Given the description of an element on the screen output the (x, y) to click on. 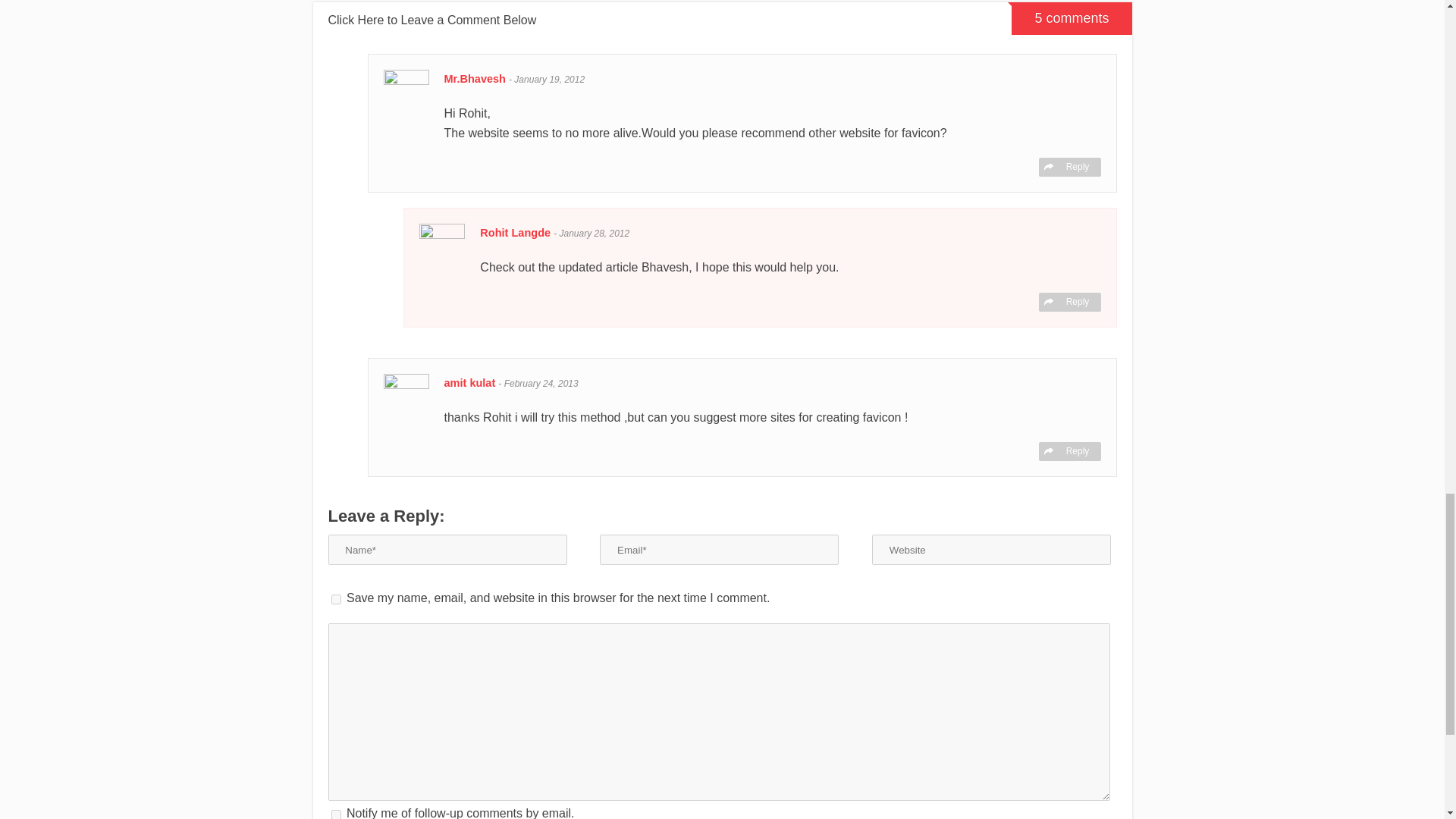
yes (335, 599)
Mr.Bhavesh (476, 78)
subscribe (335, 814)
Reply (1069, 167)
Reply (1069, 302)
amit kulat (471, 382)
Reply (1069, 451)
Rohit Langde (516, 232)
